Given the description of an element on the screen output the (x, y) to click on. 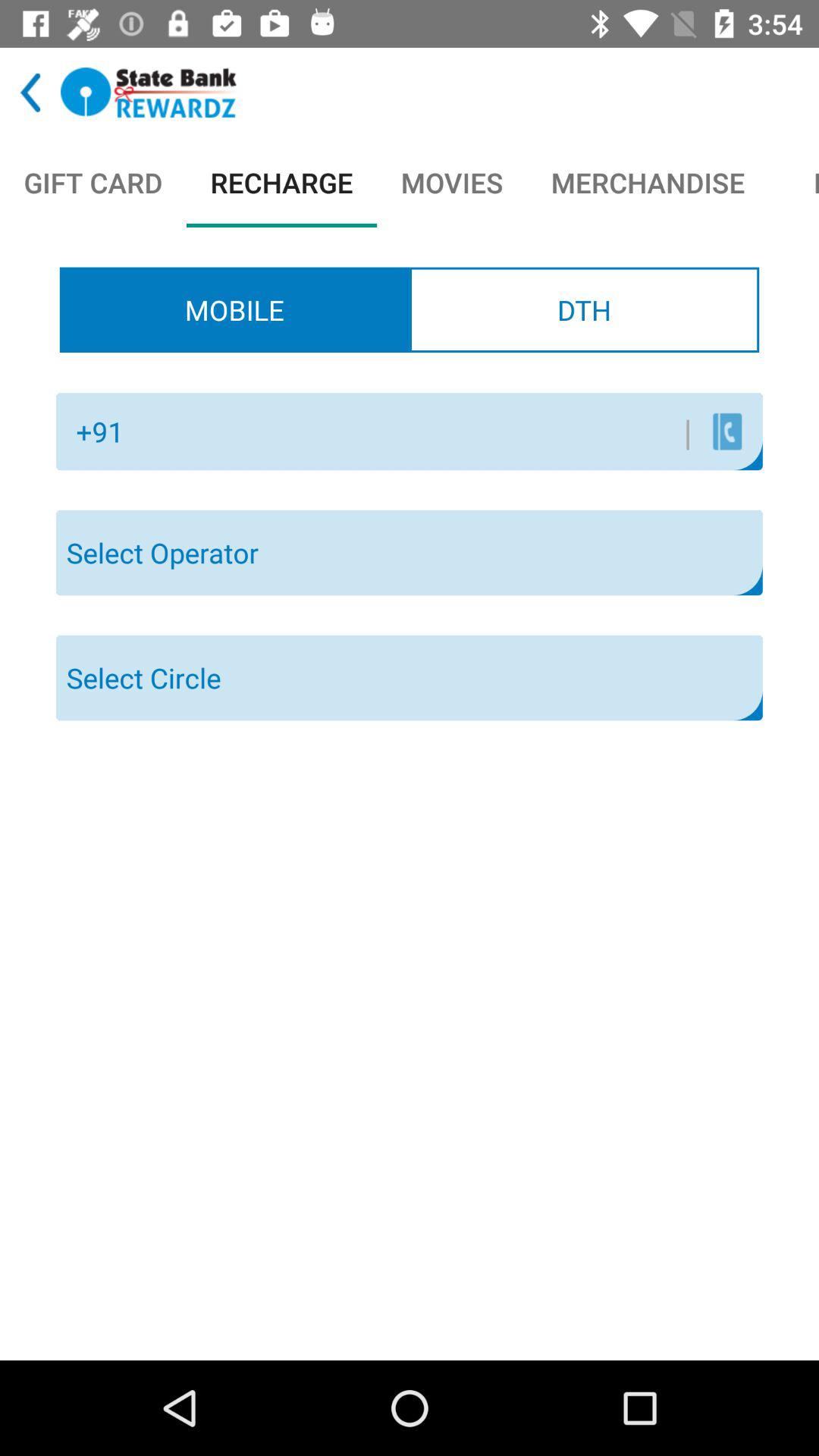
turn off icon next to dth item (234, 309)
